Given the description of an element on the screen output the (x, y) to click on. 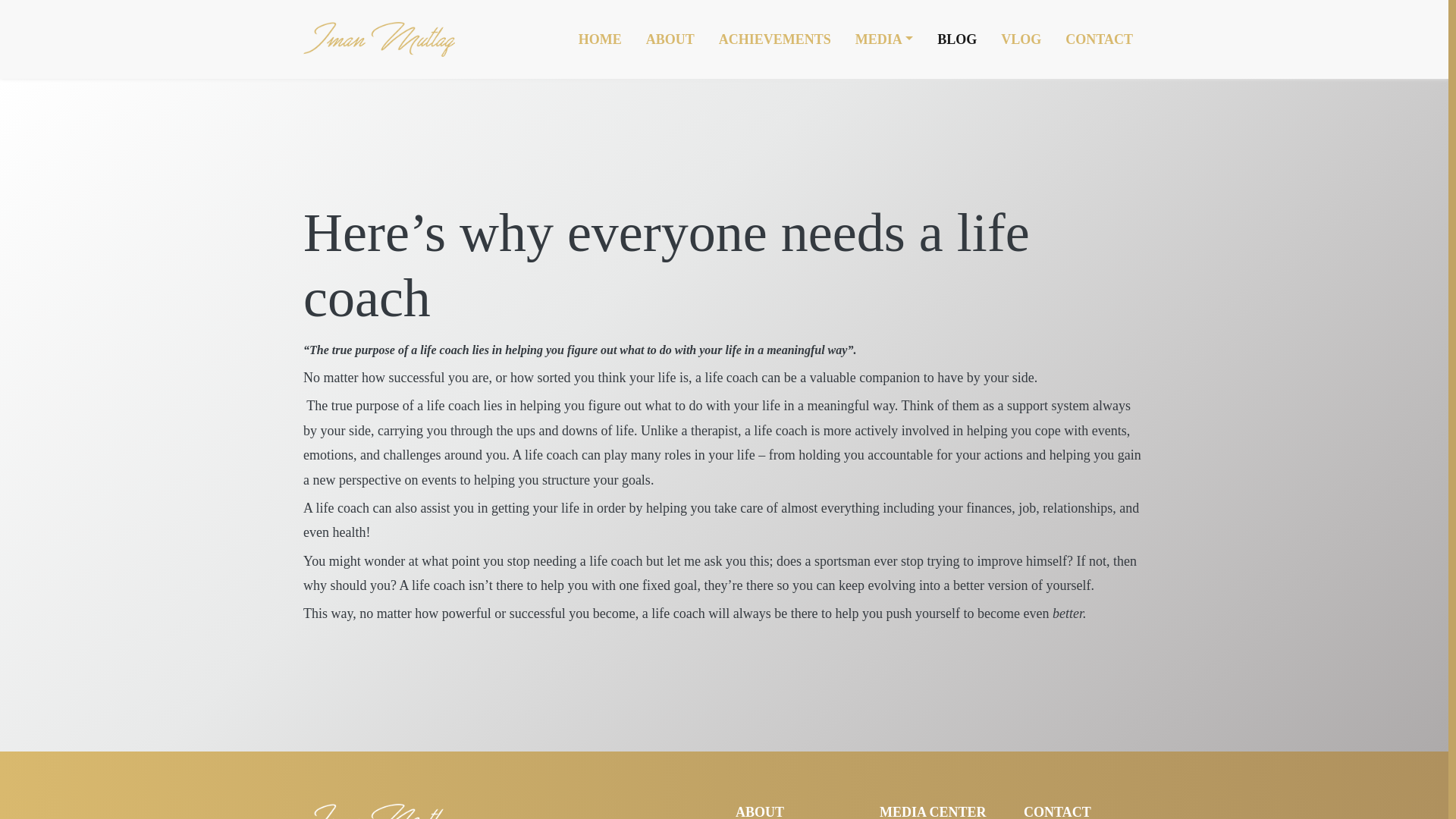
ACHIEVEMENTS (774, 39)
ABOUT (669, 39)
ABOUT (759, 811)
MEDIA (884, 39)
HOME (599, 39)
CONTACT (1098, 39)
CONTACT (1056, 811)
BLOG (956, 39)
VLOG (1020, 39)
